Given the description of an element on the screen output the (x, y) to click on. 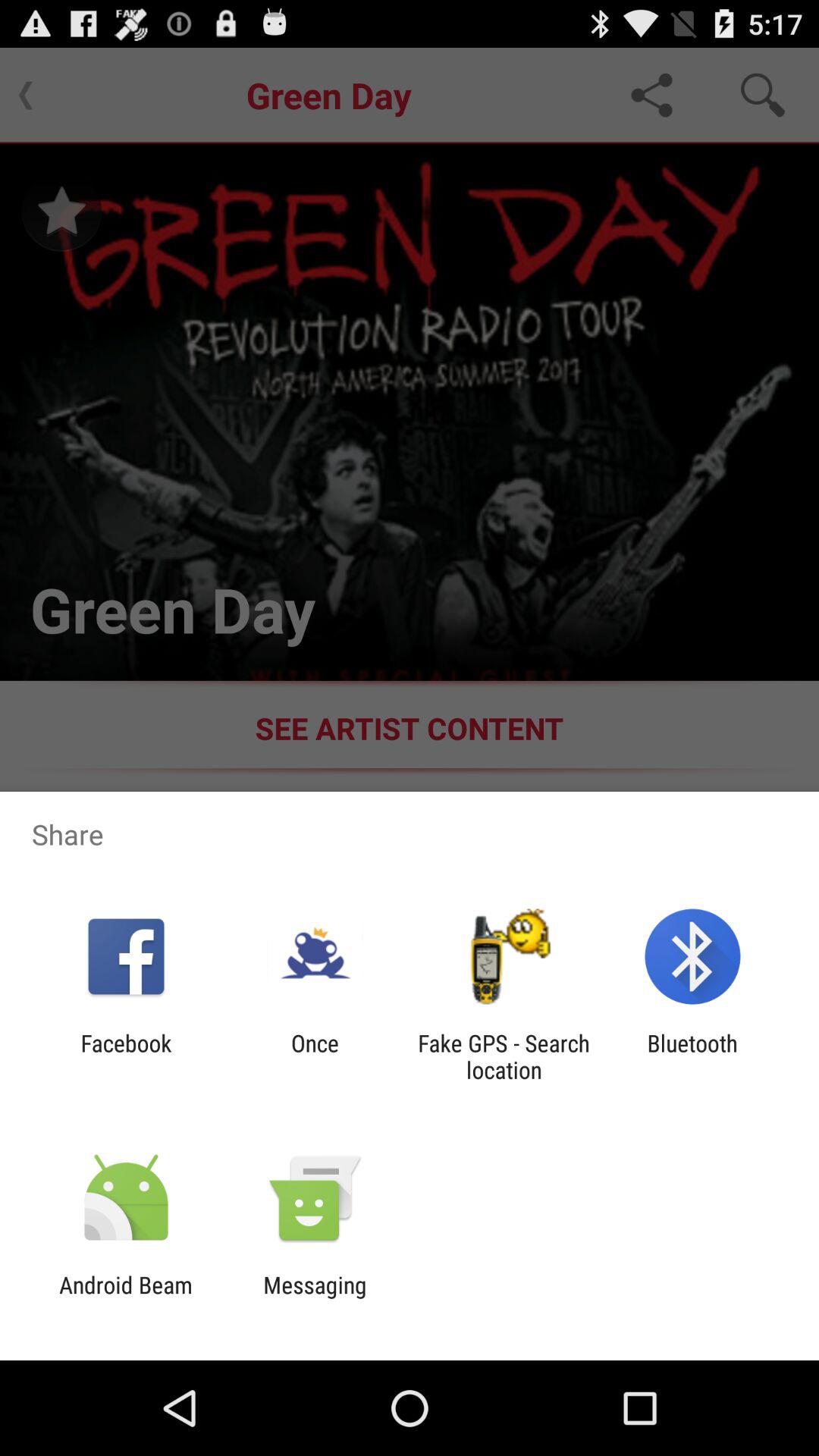
launch app at the bottom right corner (692, 1056)
